Given the description of an element on the screen output the (x, y) to click on. 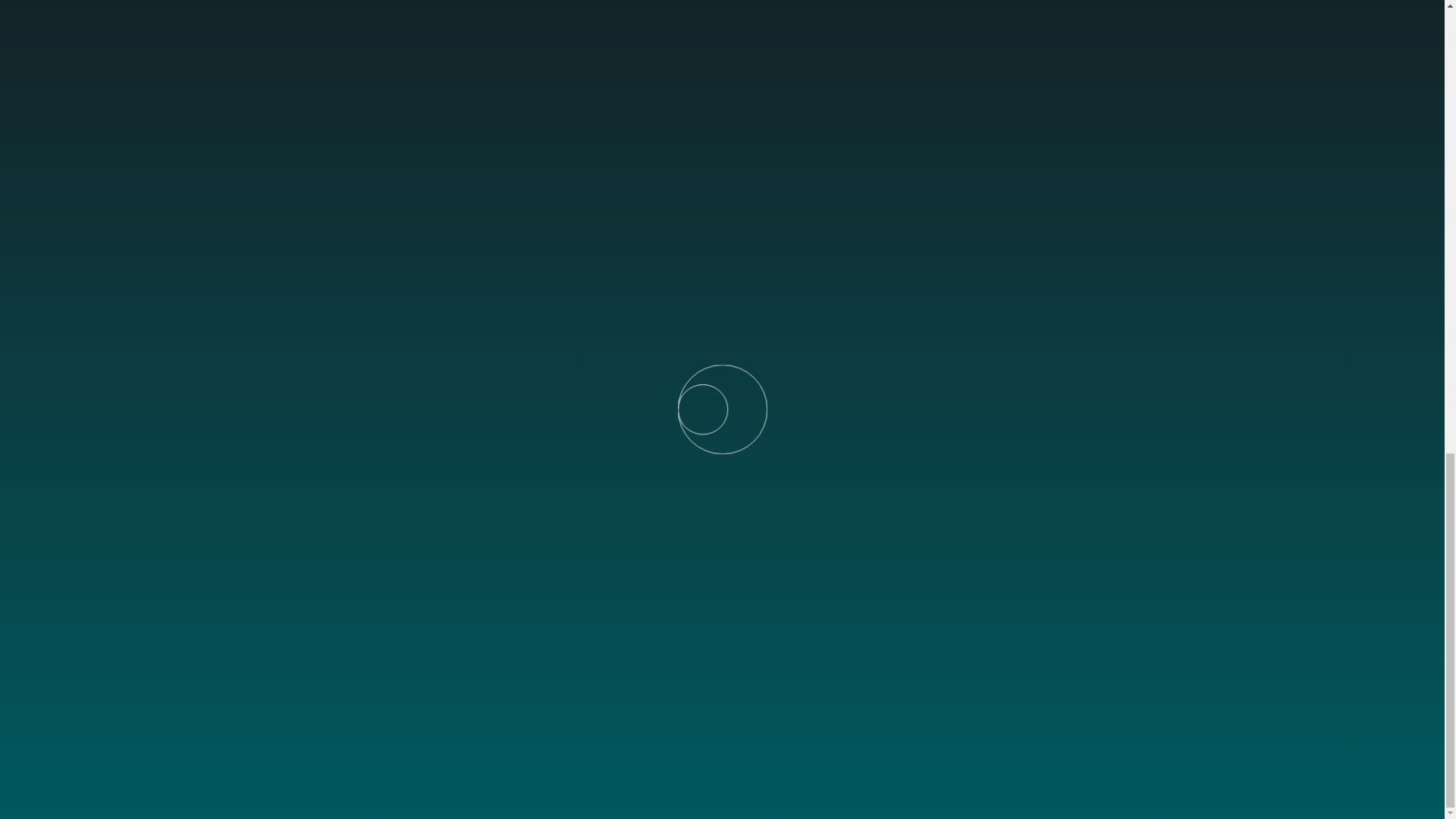
Visit AND-E YouTube account (312, 716)
Visit AND-E LinkedIn profile (272, 716)
